Given the description of an element on the screen output the (x, y) to click on. 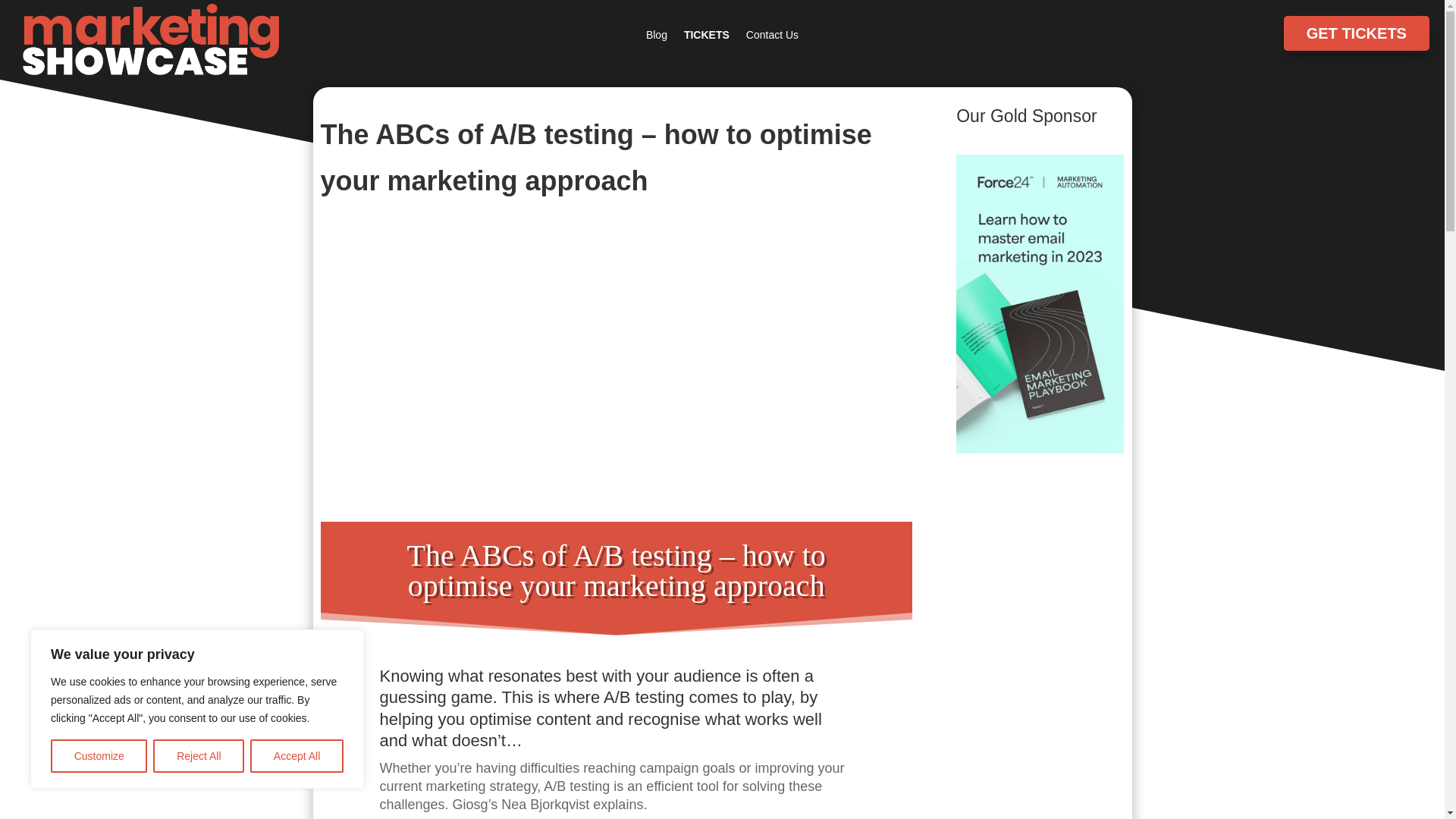
GET TICKETS (1356, 32)
Logo MKTG for Coloured Background High res (151, 39)
Blog (656, 37)
Accept All (296, 756)
F24 mktgShowcase Website Ad (1040, 303)
Customize (98, 756)
Contact Us (771, 37)
Reject All (198, 756)
TICKETS (706, 37)
